Given the description of an element on the screen output the (x, y) to click on. 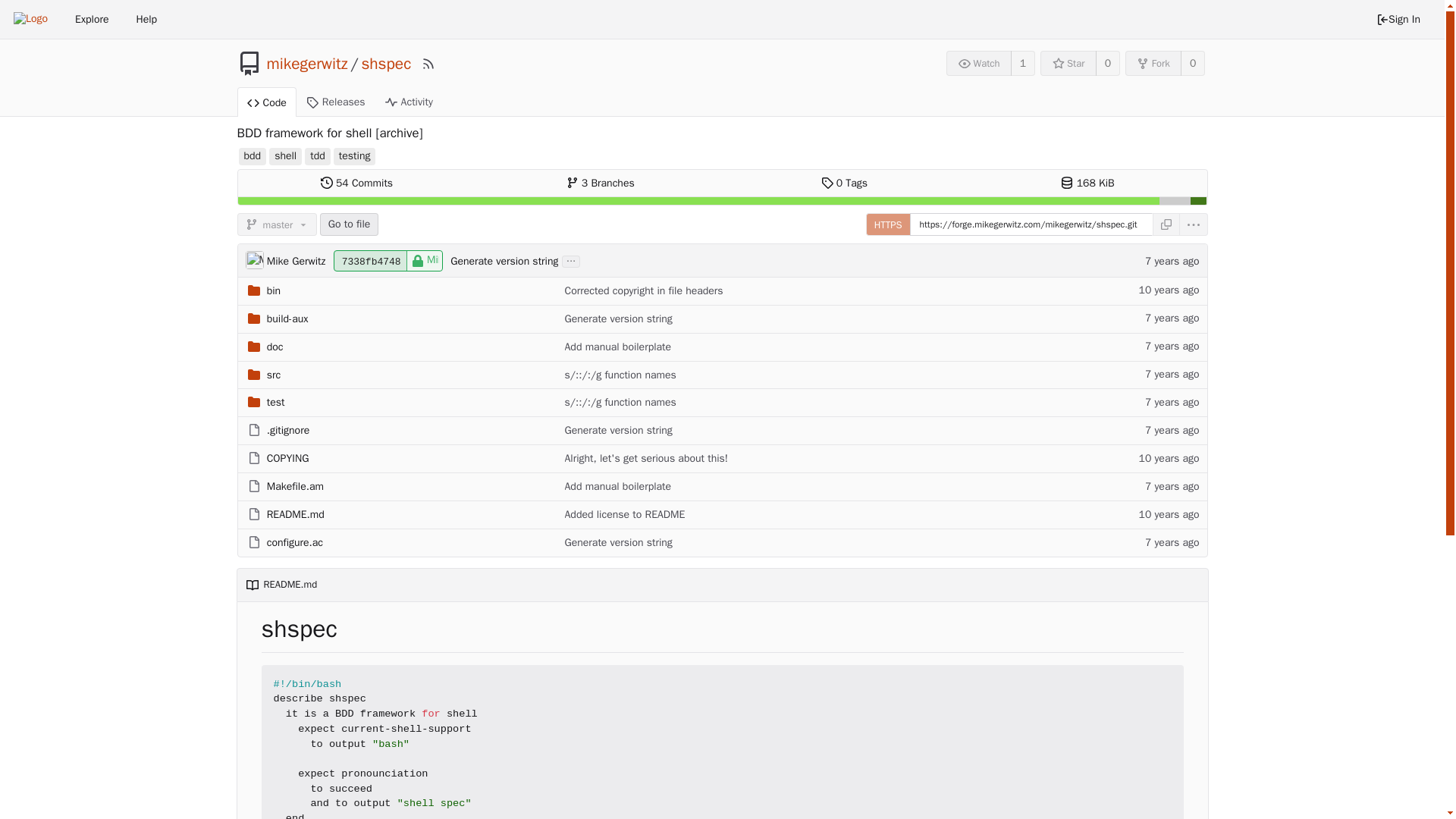
Generate version string (516, 260)
1 (1022, 63)
Releases (336, 101)
Go to file (349, 223)
Mike Gerwitz (254, 259)
Sign In (1398, 19)
.gitignore (287, 430)
Code (265, 101)
shspec (385, 63)
Star (1068, 63)
bdd (252, 156)
0 (1107, 63)
Activity (408, 101)
shell (285, 156)
testing (354, 156)
